Given the description of an element on the screen output the (x, y) to click on. 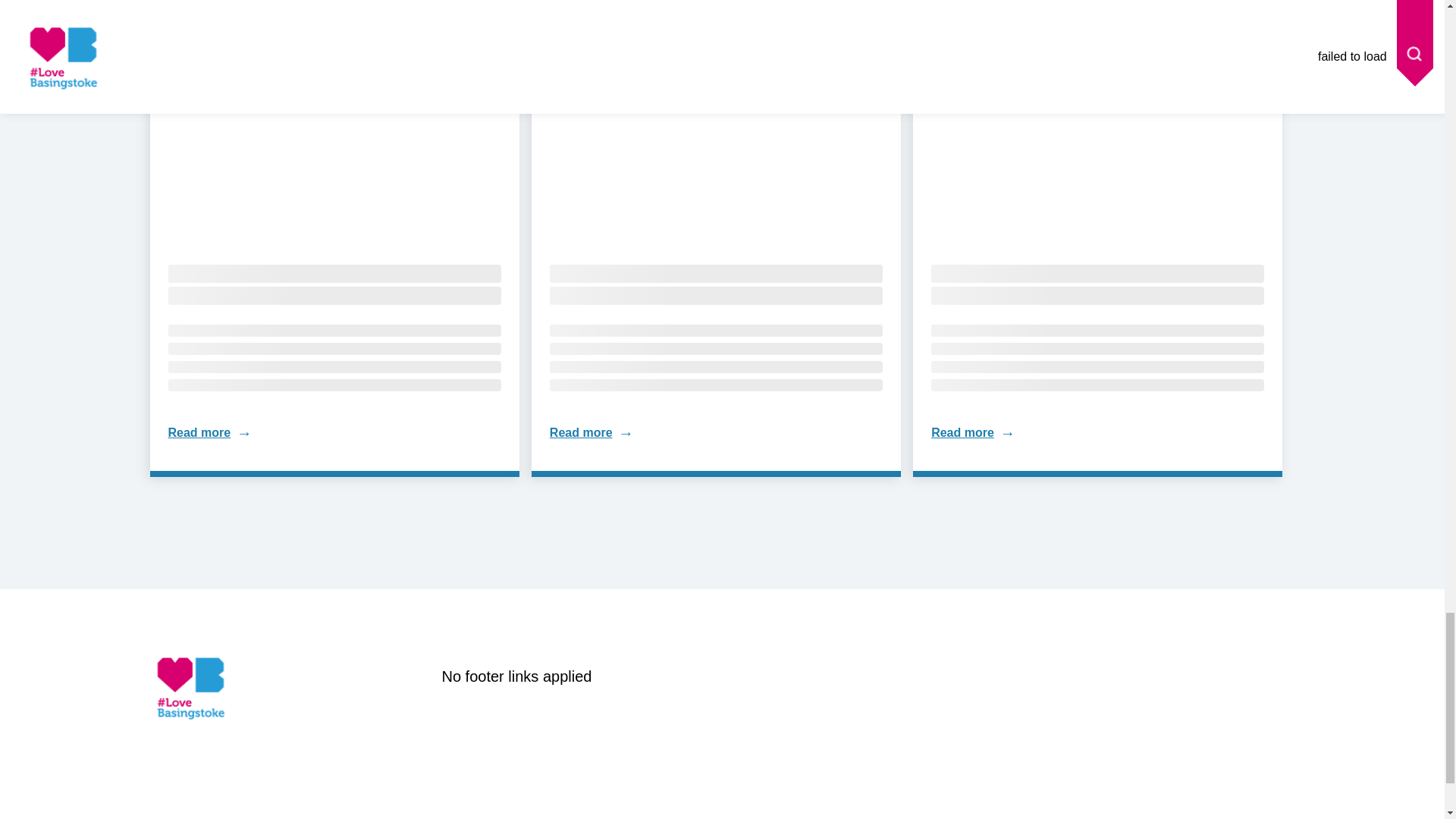
Read more (962, 432)
Read more (581, 432)
Read more (581, 432)
Read more (962, 432)
Read more (199, 432)
Read more (199, 432)
